Given the description of an element on the screen output the (x, y) to click on. 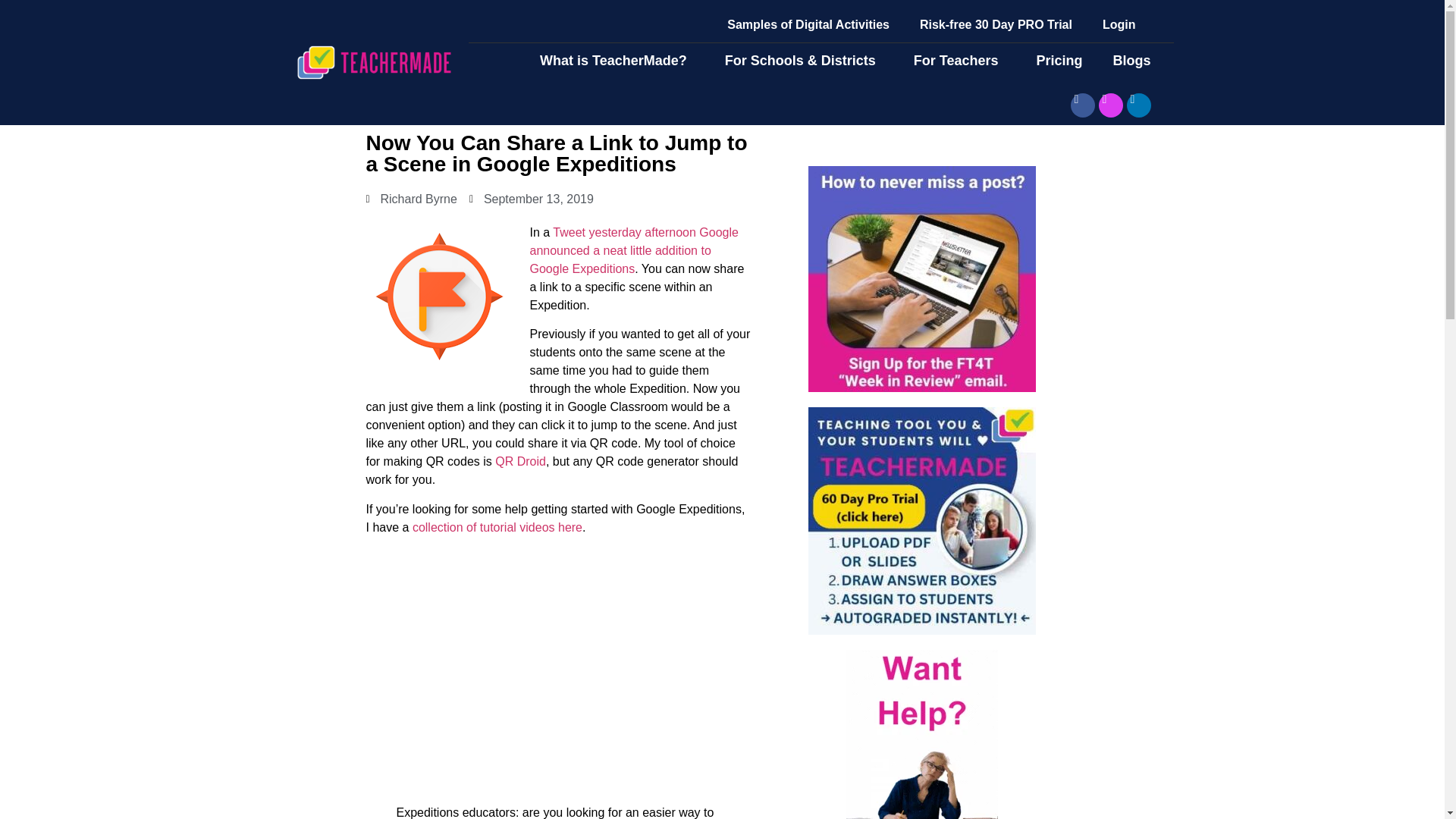
Blogs (1135, 60)
For Teachers (960, 60)
What is TeacherMade? (617, 60)
Samples of Digital Activities (807, 24)
Risk-free 30 Day PRO Trial (995, 24)
Login (1119, 24)
Pricing (1058, 60)
